Given the description of an element on the screen output the (x, y) to click on. 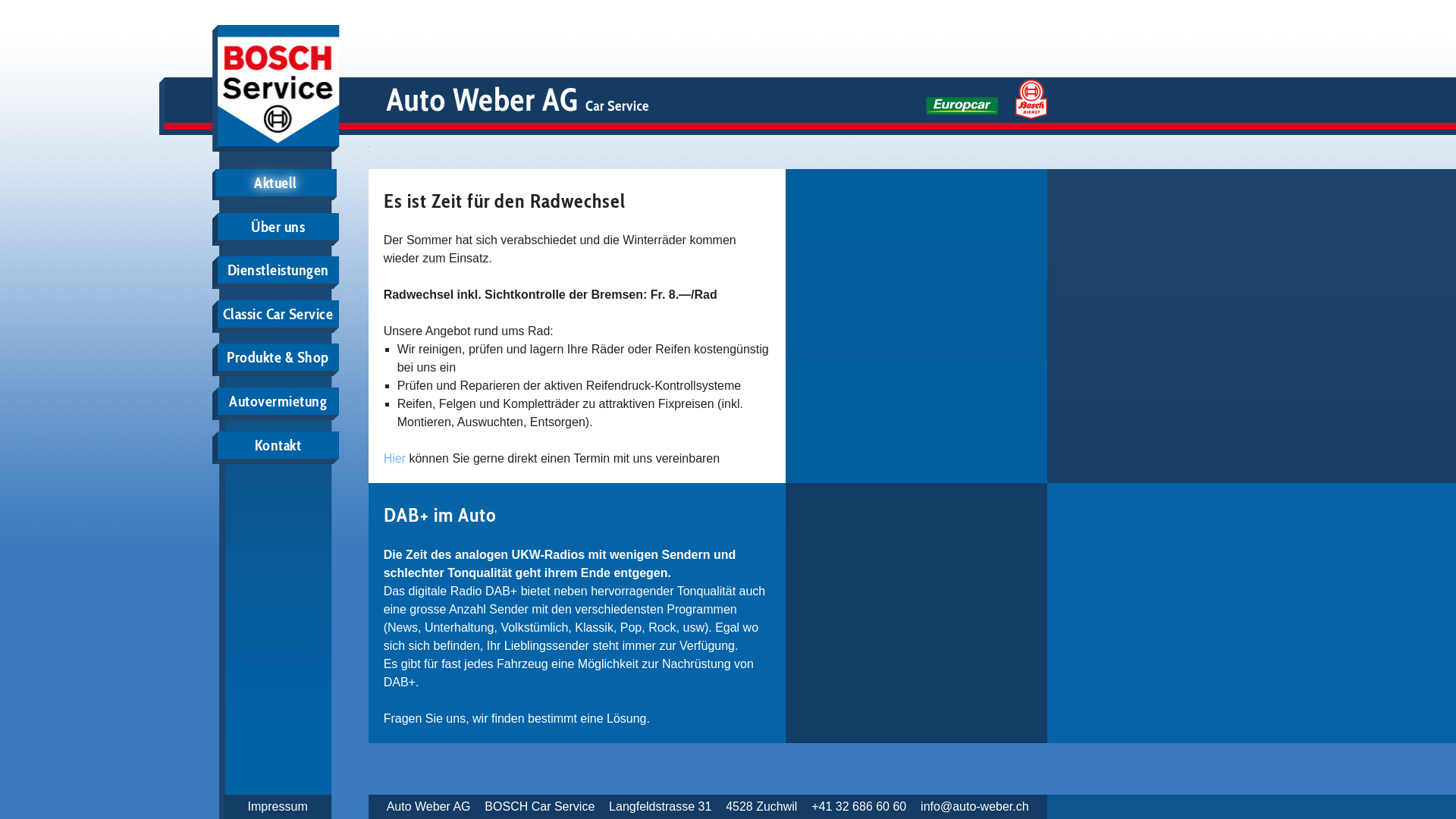
Produkte & Shop Element type: text (277, 356)
Impressum Element type: text (277, 806)
Classic Car Service Element type: text (277, 313)
info@auto-weber.ch Element type: text (974, 806)
Aktuell Element type: text (275, 182)
Hier Element type: text (394, 457)
Kontakt Element type: text (277, 444)
Dienstleistungen Element type: text (277, 269)
Autovermietung Element type: text (277, 400)
